Given the description of an element on the screen output the (x, y) to click on. 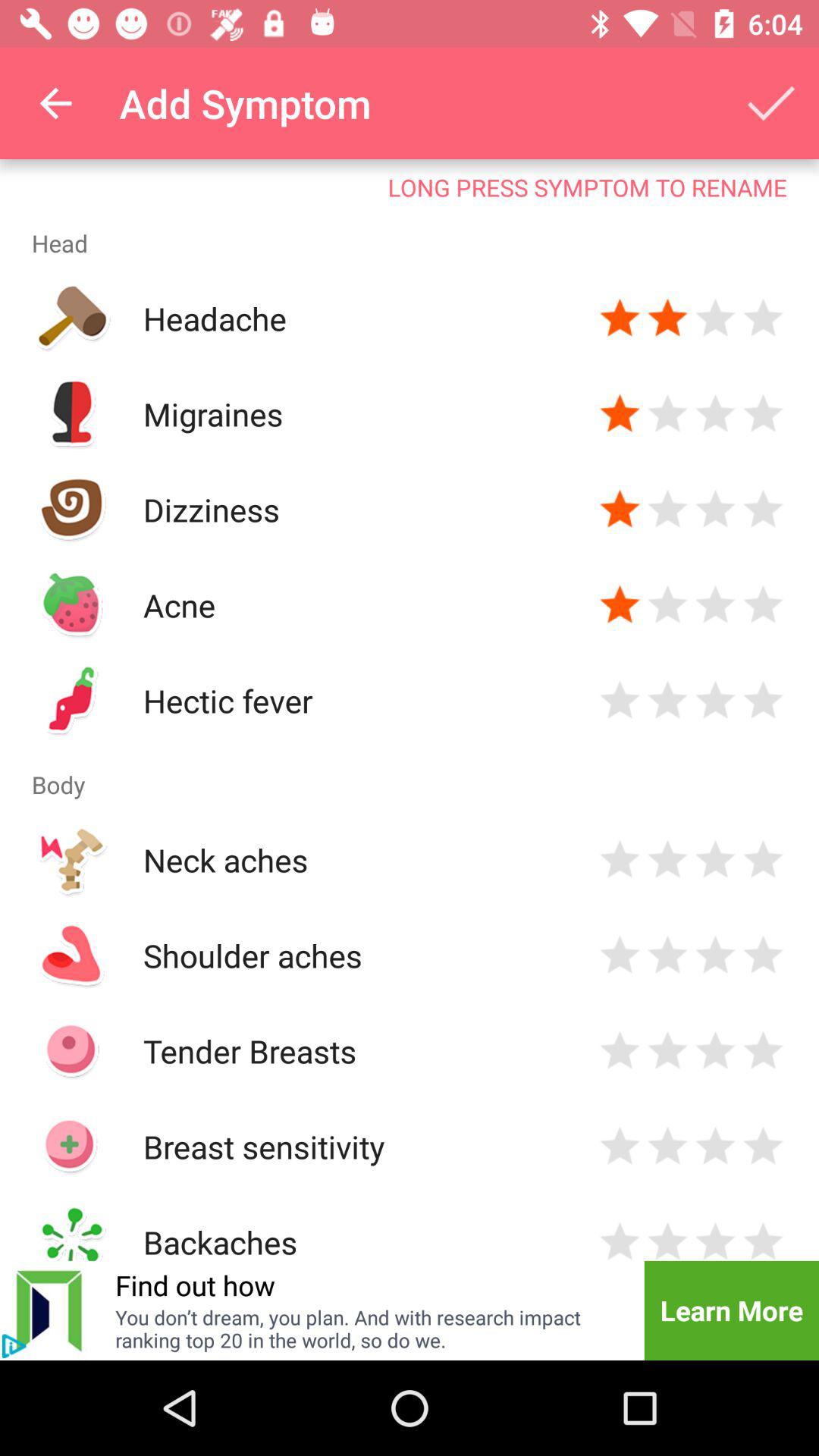
rate 2 stars (667, 700)
